Given the description of an element on the screen output the (x, y) to click on. 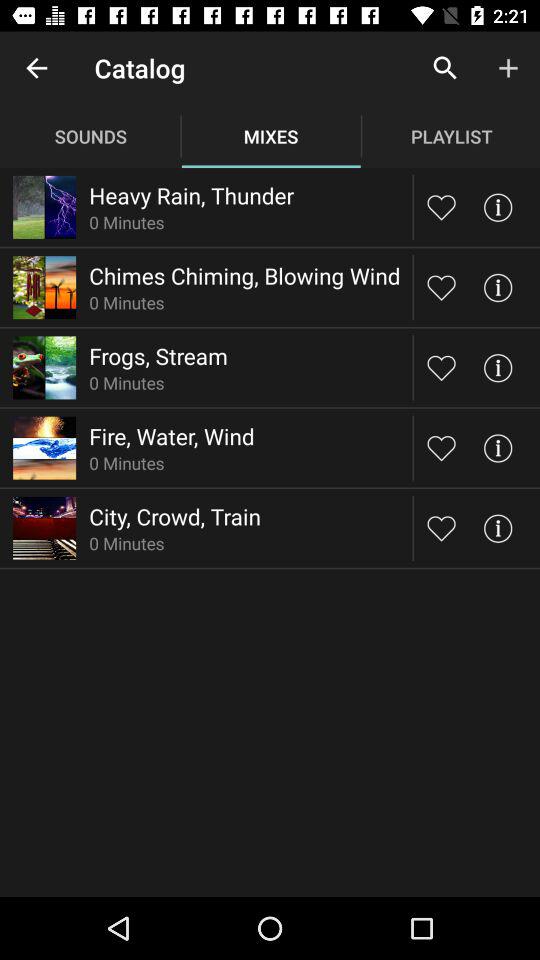
add song to favorites (441, 367)
